Given the description of an element on the screen output the (x, y) to click on. 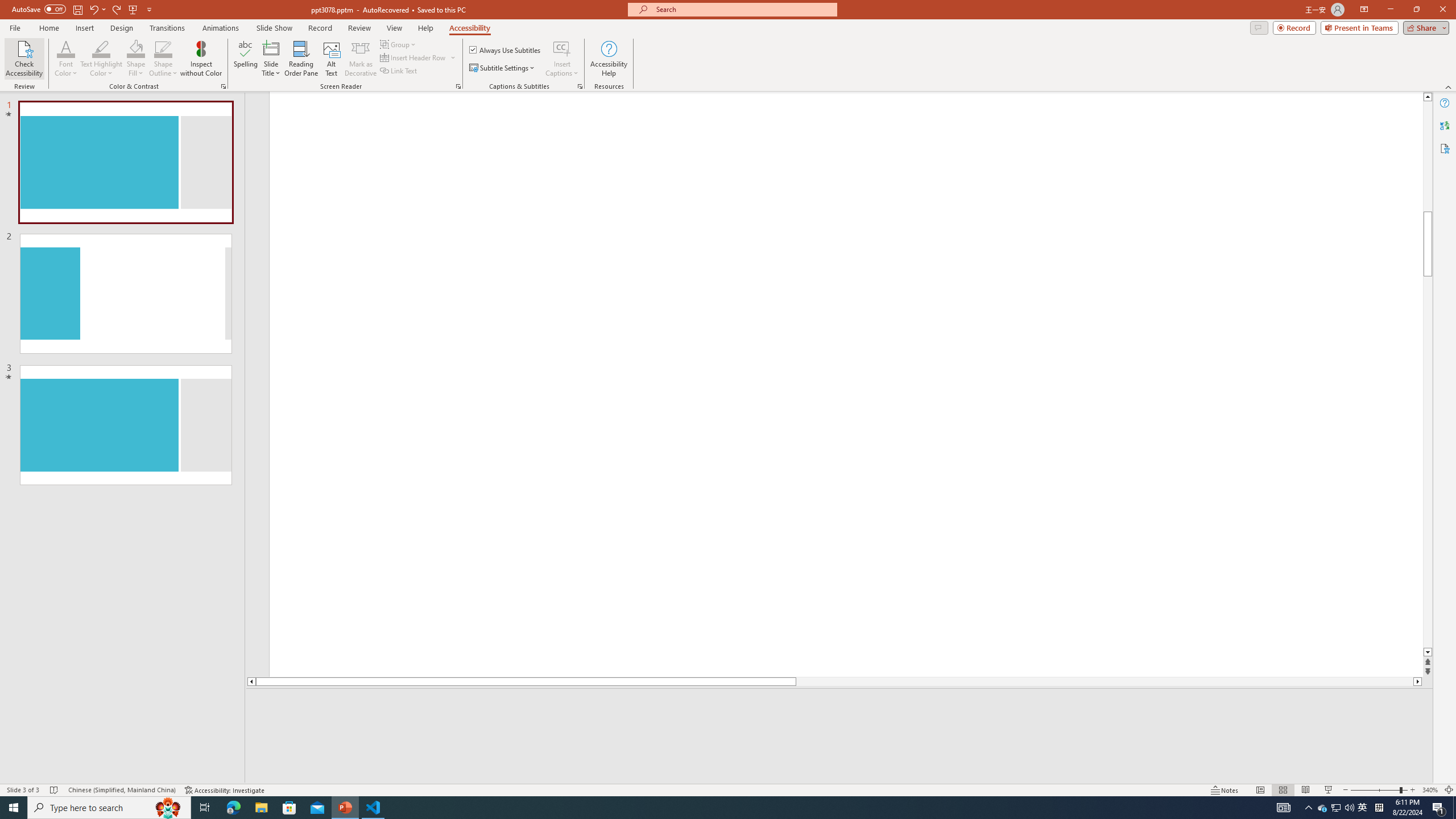
Captions & Subtitles (580, 85)
Inspect without Color (201, 58)
